Given the description of an element on the screen output the (x, y) to click on. 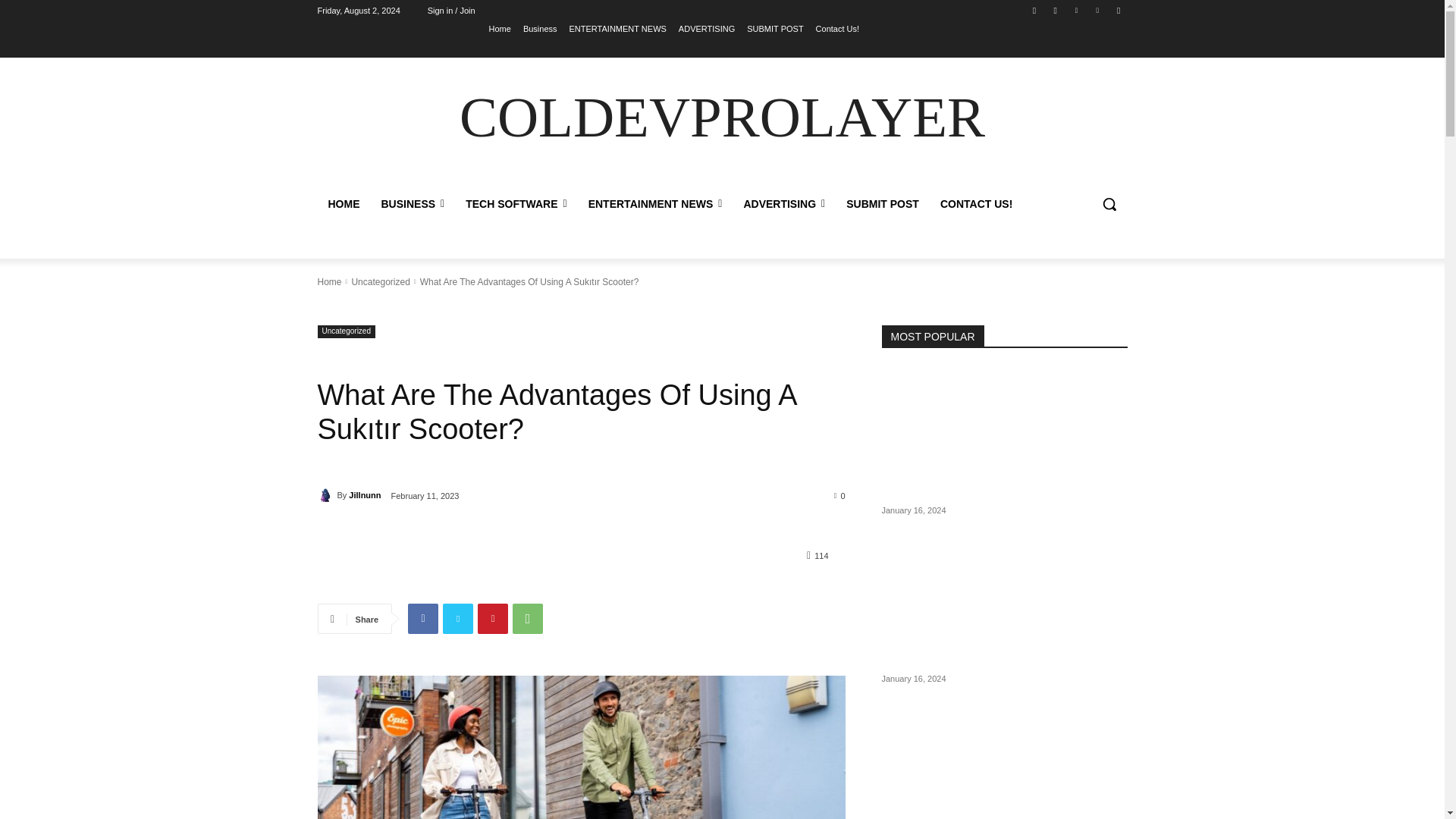
ADVERTISING (706, 28)
Business (539, 28)
Vimeo (1097, 9)
Facebook (1034, 9)
ENTERTAINMENT NEWS (617, 28)
Twitter (1075, 9)
BUSINESS (411, 203)
COLDEVPROLAYER (721, 117)
SUBMIT POST (774, 28)
Contact Us! (837, 28)
